Given the description of an element on the screen output the (x, y) to click on. 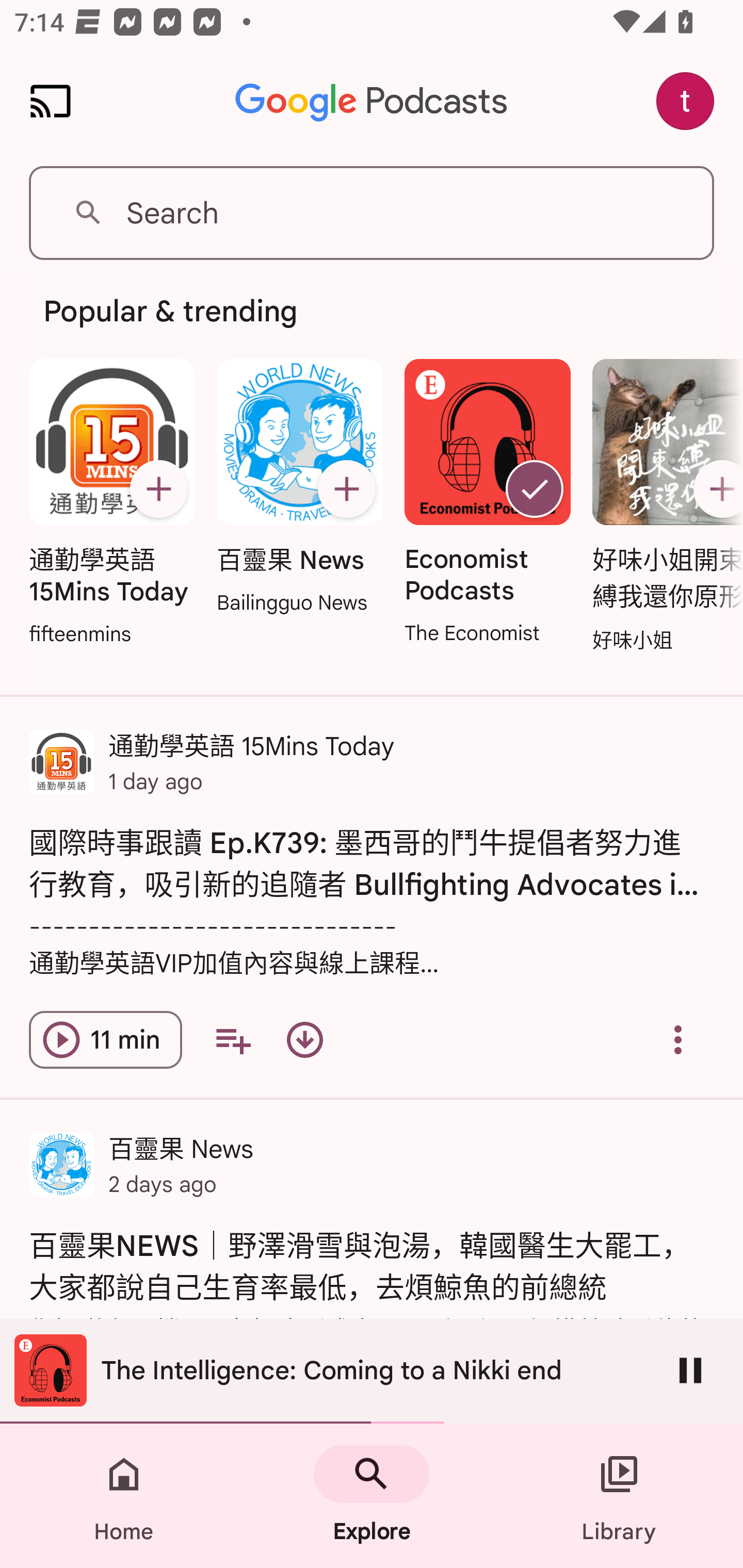
Cast. Disconnected (50, 101)
Search (371, 212)
百靈果 News Subscribe 百靈果 News Bailingguo News (299, 488)
好味小姐開束縛我還你原形 Subscribe 好味小姐開束縛我還你原形 好味小姐 (662, 507)
Subscribe (158, 489)
Subscribe (346, 489)
Unsubscribe (534, 489)
Subscribe (714, 489)
Add to your queue (232, 1040)
Download episode (304, 1040)
Overflow menu (677, 1040)
Pause (690, 1370)
Home (123, 1495)
Library (619, 1495)
